Given the description of an element on the screen output the (x, y) to click on. 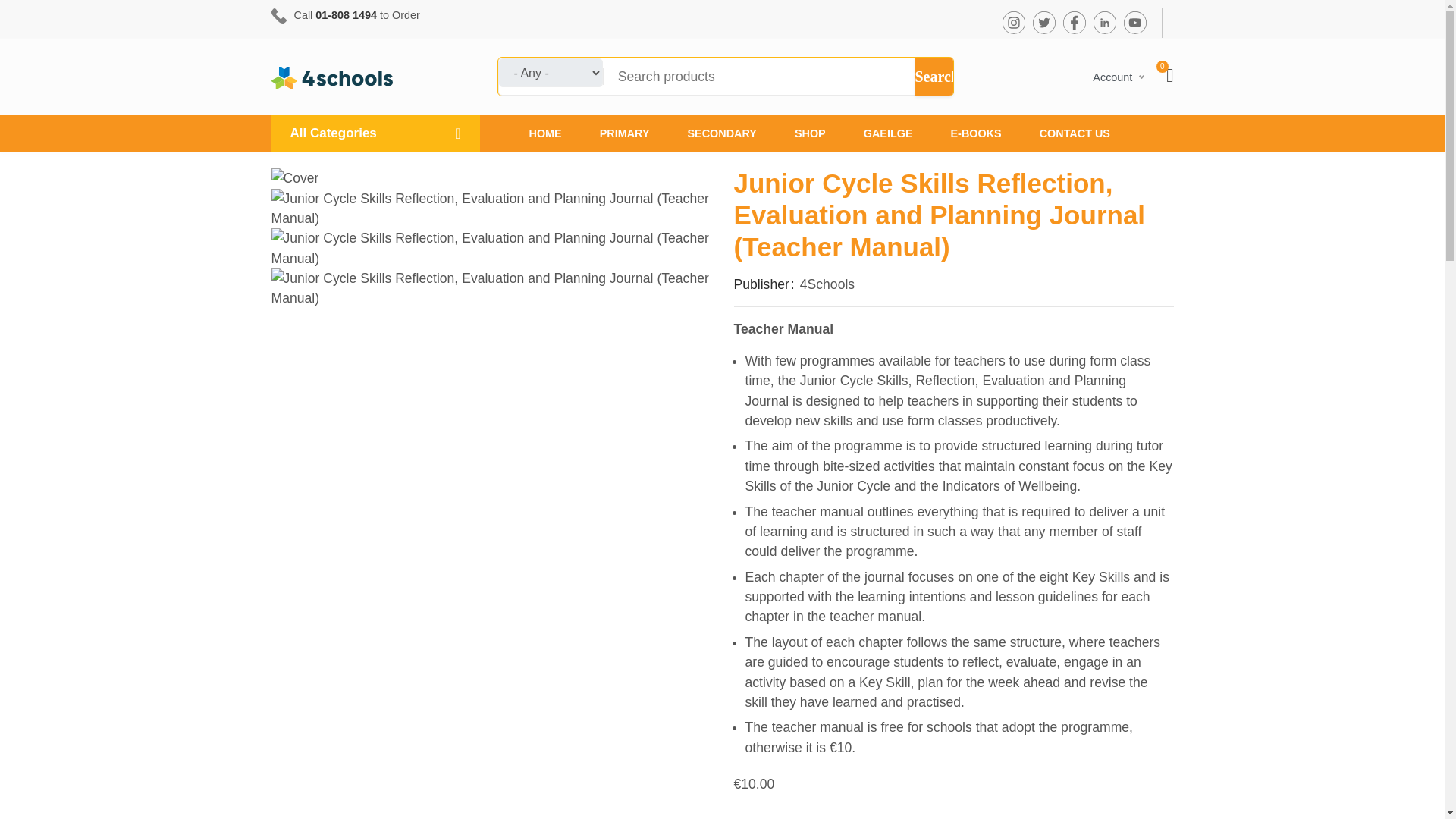
Search (933, 76)
4Schools Instagram Account (1014, 22)
4Schools Facebook Account (1073, 22)
Follow us on Instagram (1012, 22)
Follow us on Twitter (1042, 22)
CONTACT US (1064, 133)
SHOP (810, 133)
Search (933, 76)
HOME (544, 133)
4Schools LinkedIn Account (1104, 22)
Account (1117, 77)
4Schools Twitter Account (1043, 22)
4Schools LinkedIn Account (1104, 22)
4Schools-youtube4Schools YouTube Account (1134, 22)
